Given the description of an element on the screen output the (x, y) to click on. 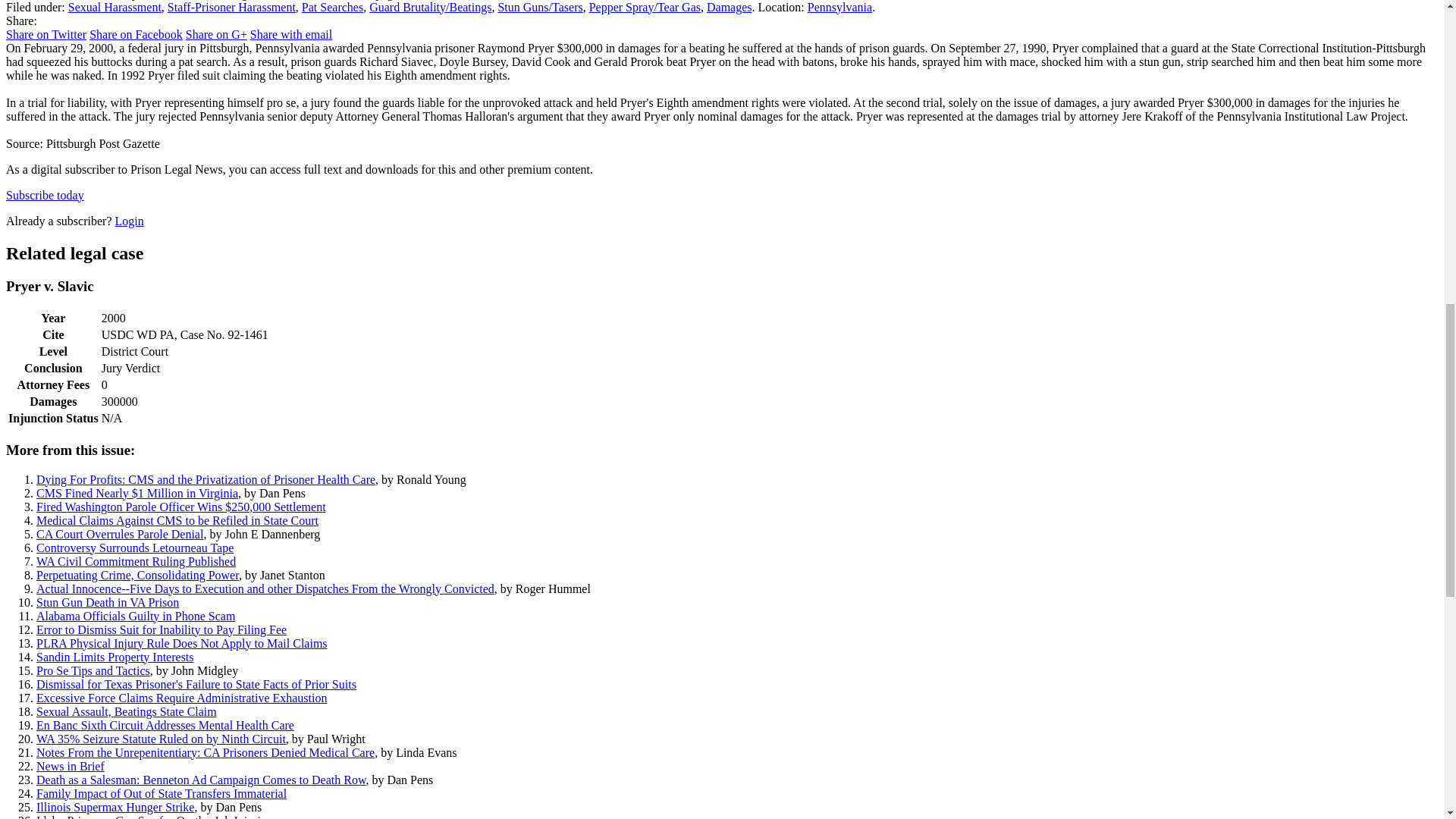
Share on Twitter (45, 33)
Share on Facebook (135, 33)
Share with email (290, 33)
Sexual Harassment (114, 6)
